Given the description of an element on the screen output the (x, y) to click on. 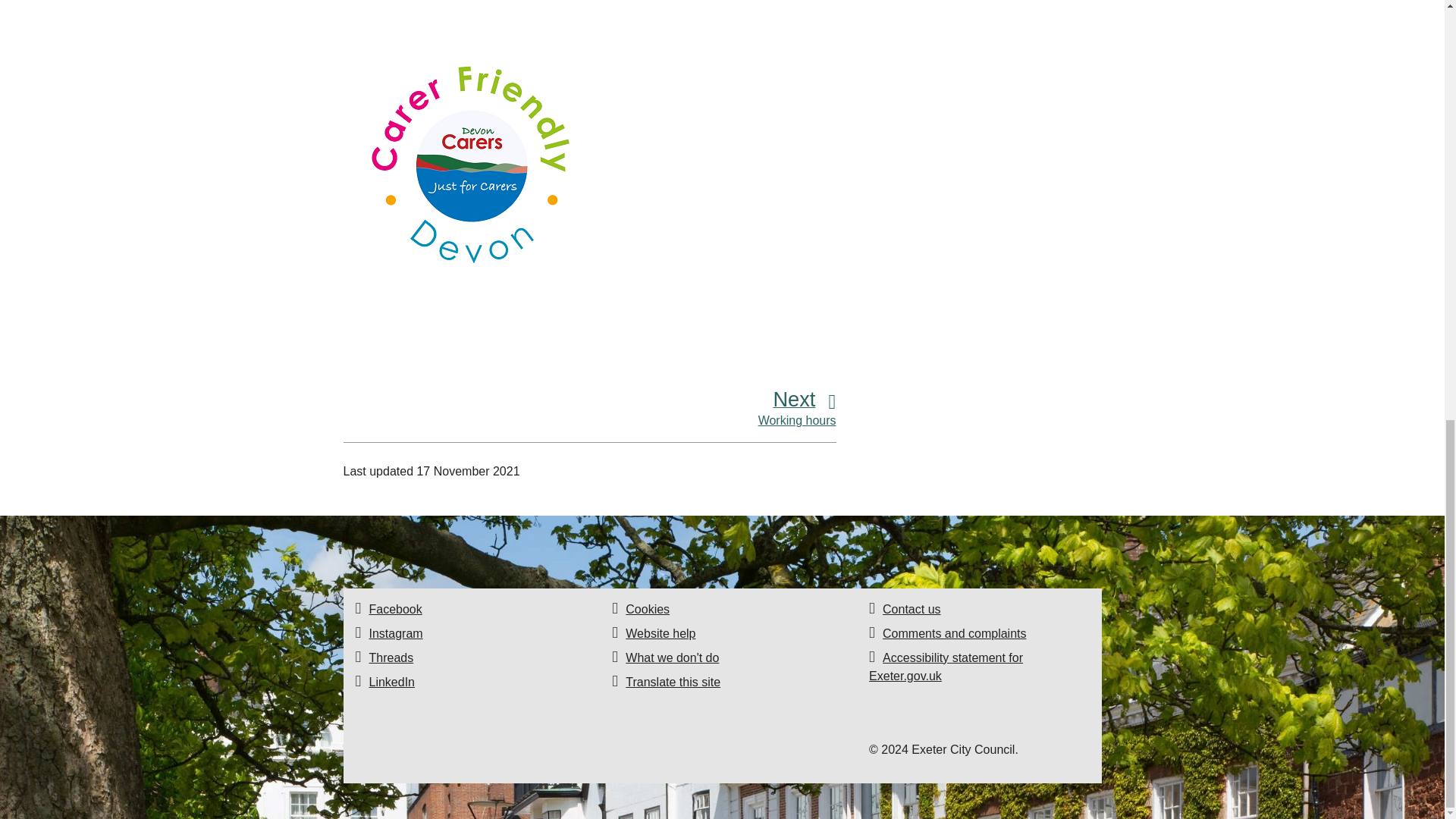
Instagram (395, 633)
LinkedIn (391, 681)
Website help (660, 633)
Accessibility statement for Exeter.gov.uk (946, 666)
Comments and complaints (954, 633)
Contact us (911, 608)
Cookies (647, 608)
Threads (390, 657)
Facebook (395, 608)
Translate this site (673, 681)
What we don't do (672, 657)
